Given the description of an element on the screen output the (x, y) to click on. 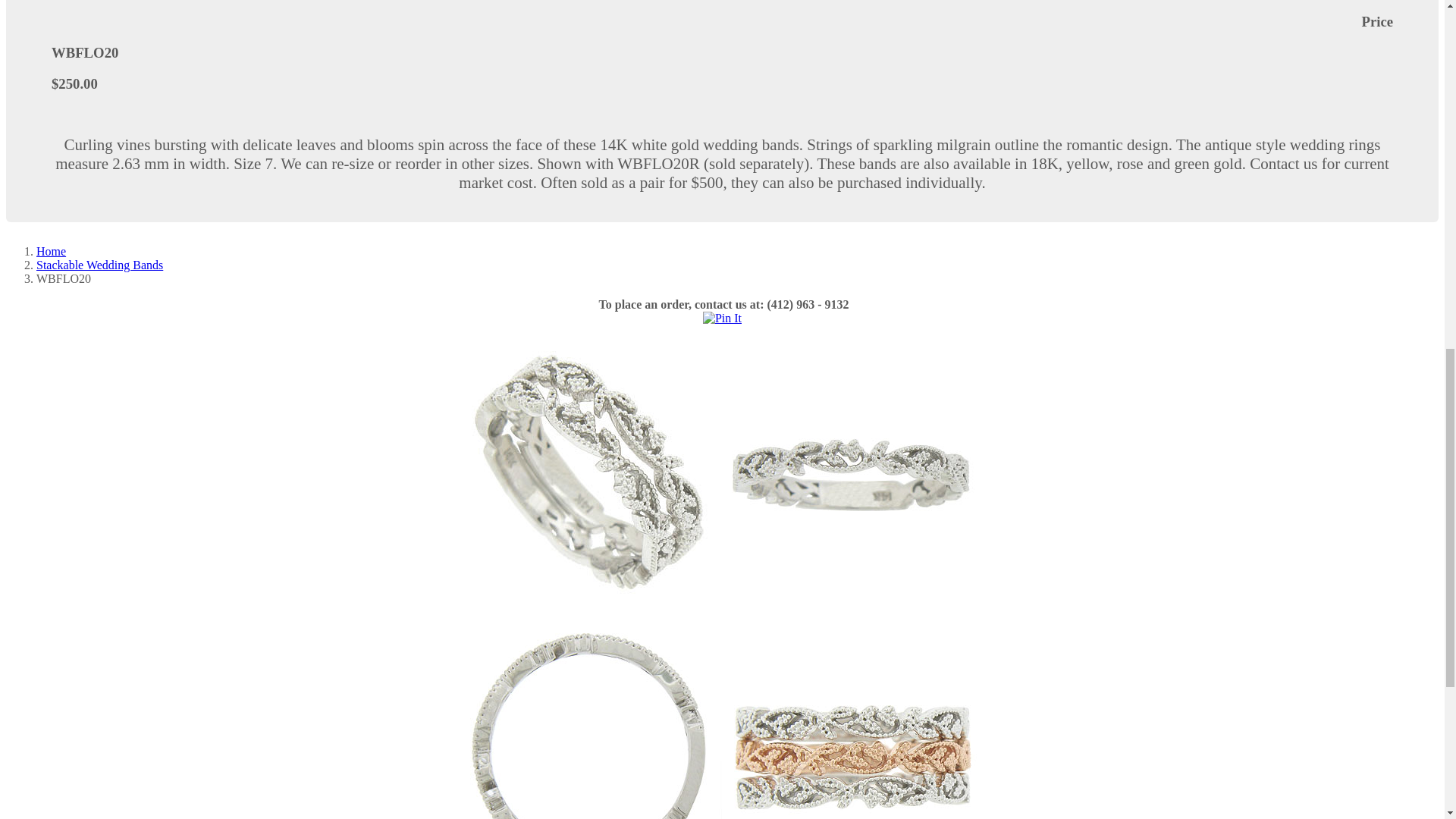
Pin It (722, 318)
